Given the description of an element on the screen output the (x, y) to click on. 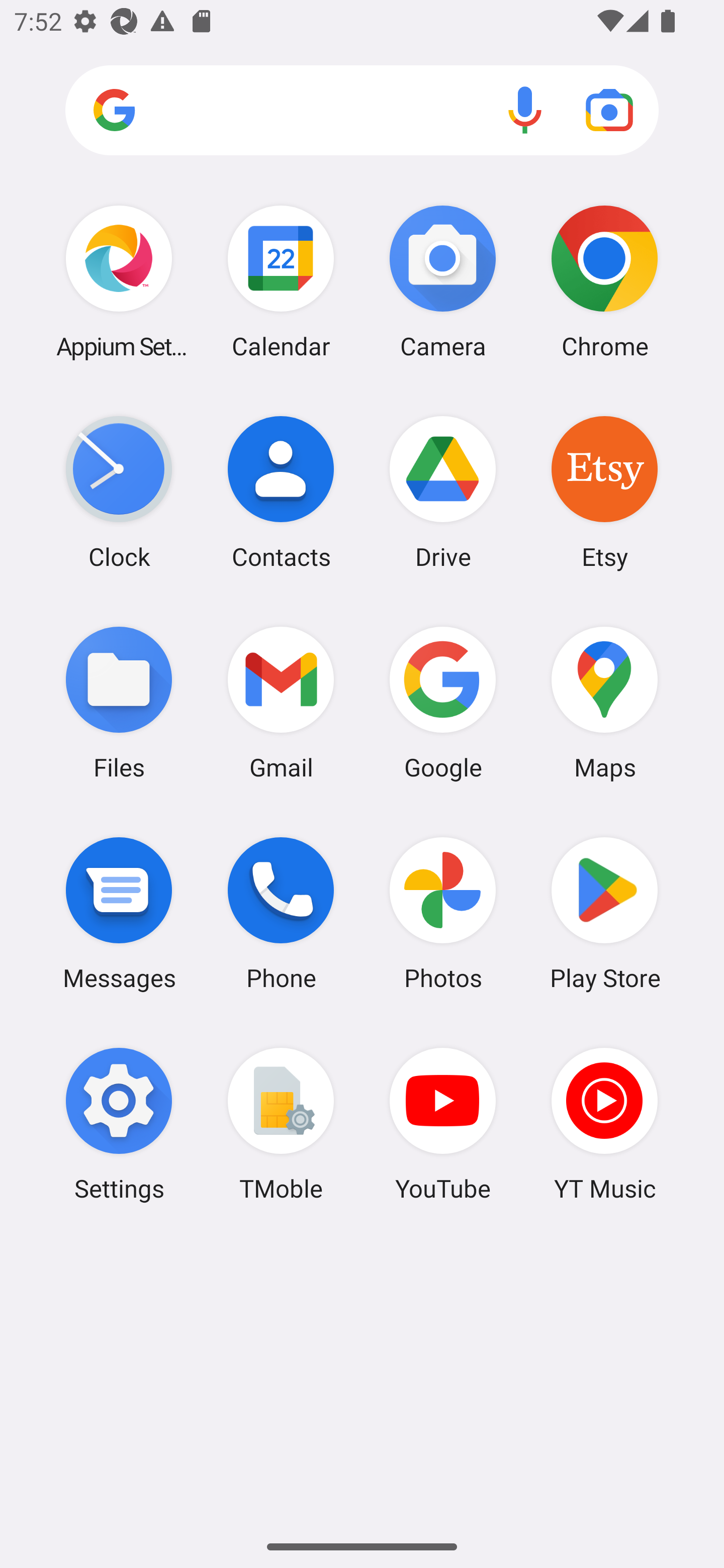
Search apps, web and more (361, 110)
Voice search (524, 109)
Google Lens (608, 109)
Appium Settings (118, 281)
Calendar (280, 281)
Camera (443, 281)
Chrome (604, 281)
Clock (118, 492)
Contacts (280, 492)
Drive (443, 492)
Etsy (604, 492)
Files (118, 702)
Gmail (280, 702)
Google (443, 702)
Maps (604, 702)
Messages (118, 913)
Phone (280, 913)
Photos (443, 913)
Play Store (604, 913)
Settings (118, 1124)
TMoble (280, 1124)
YouTube (443, 1124)
YT Music (604, 1124)
